Given the description of an element on the screen output the (x, y) to click on. 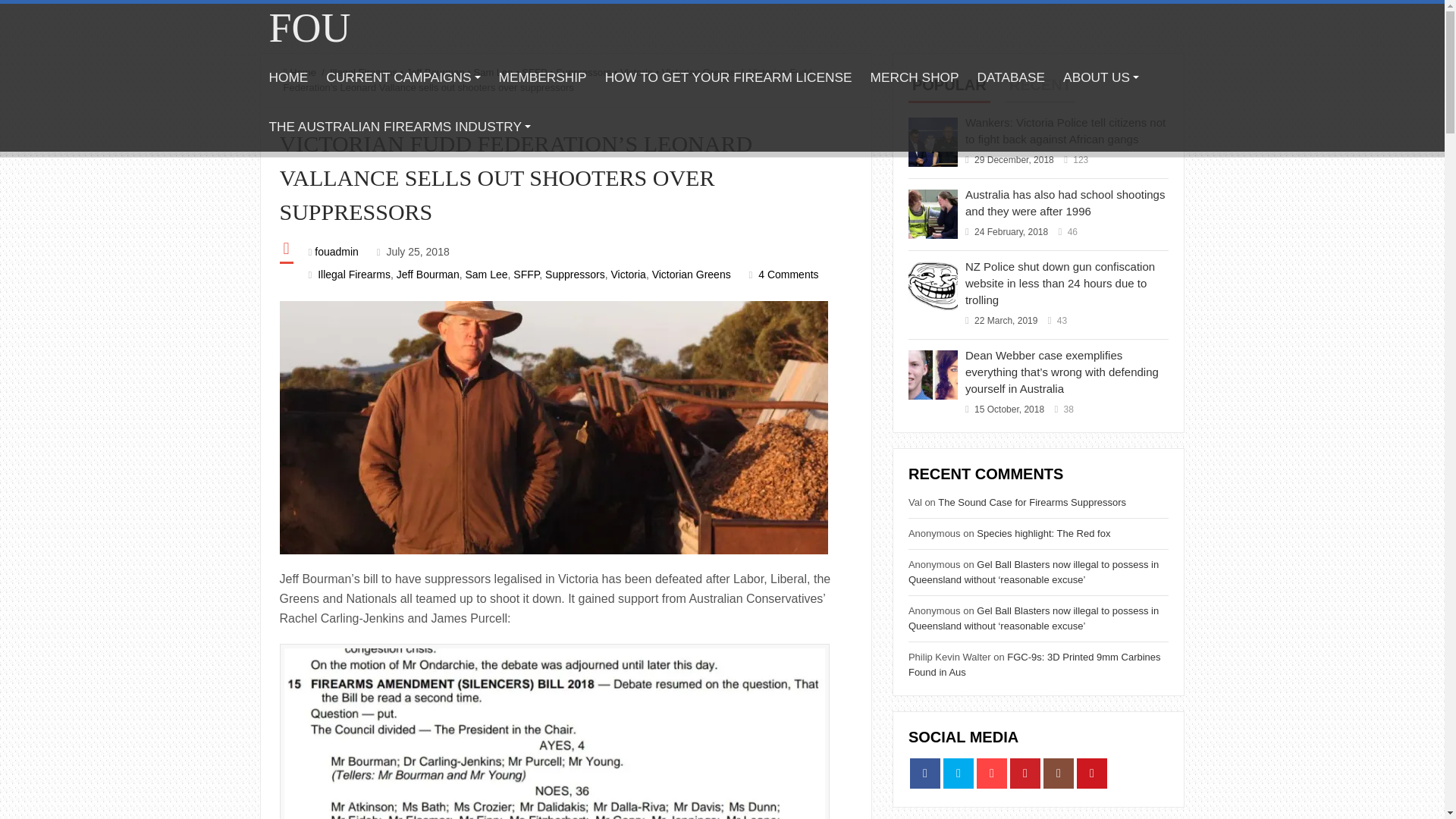
Sam Lee (485, 274)
CURRENT CAMPAIGNS (403, 77)
SFFP (525, 274)
DATABASE (1011, 77)
Jeff Bourman (435, 71)
Jeff Bourman (428, 274)
fouadmin (336, 251)
Victorian Greens (698, 71)
HOME (288, 77)
Sam Lee (493, 71)
ABOUT US (1101, 77)
SFFP (534, 71)
Victoria (636, 71)
Posts by fouadmin (336, 251)
THE AUSTRALIAN FIREARMS INDUSTRY (399, 126)
